Given the description of an element on the screen output the (x, y) to click on. 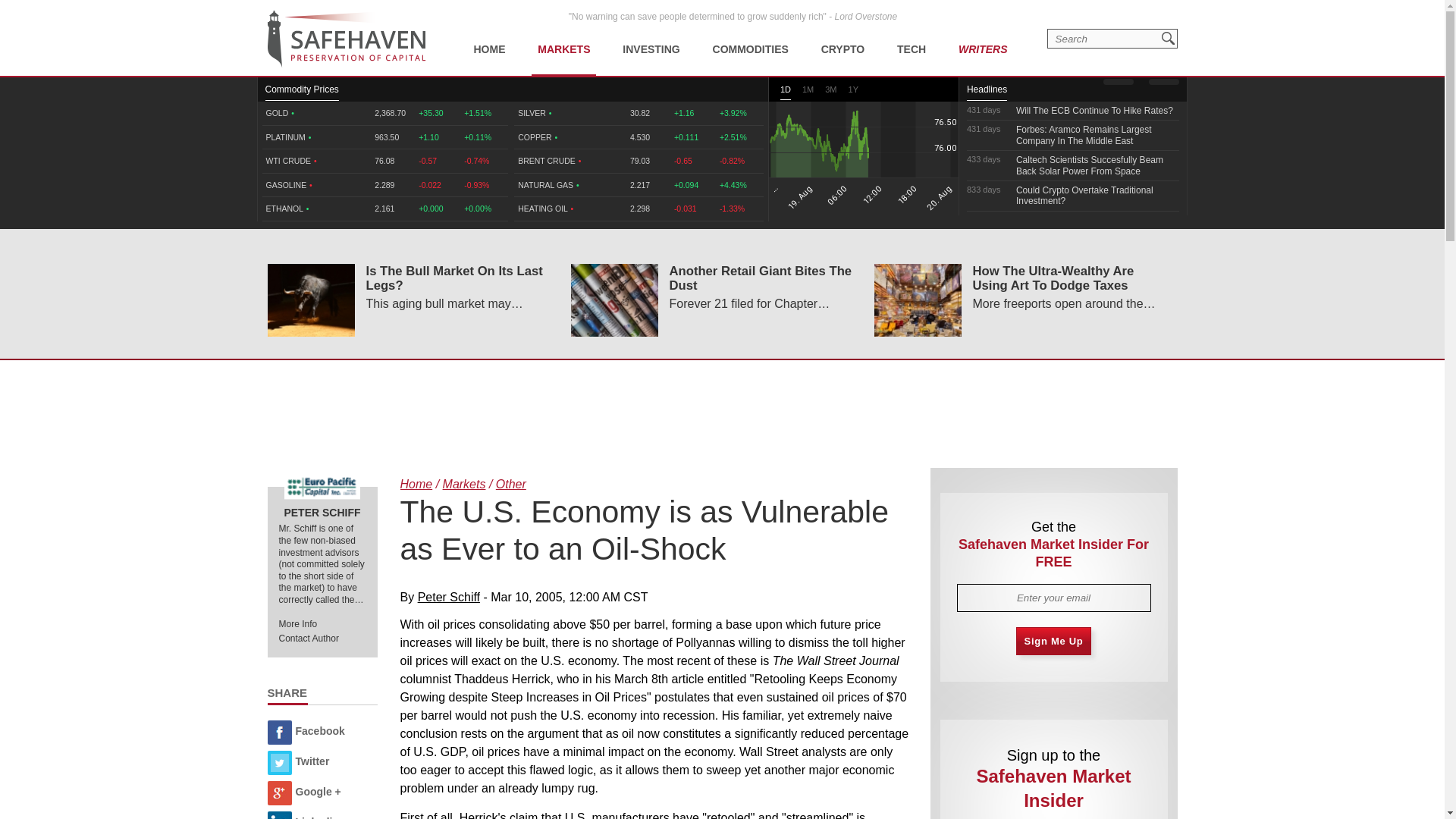
Commodity Prices (301, 92)
Another Retail Giant Bites The Dust (614, 299)
INVESTING (650, 38)
COMMODITIES (750, 38)
How The Ultra-Wealthy Are Using Art To Dodge Taxes (916, 299)
Is The Bull Market On Its Last Legs? (309, 299)
Oil prices - Oilprice.com (345, 38)
Headlines (986, 92)
Peter Schiff (321, 486)
